Given the description of an element on the screen output the (x, y) to click on. 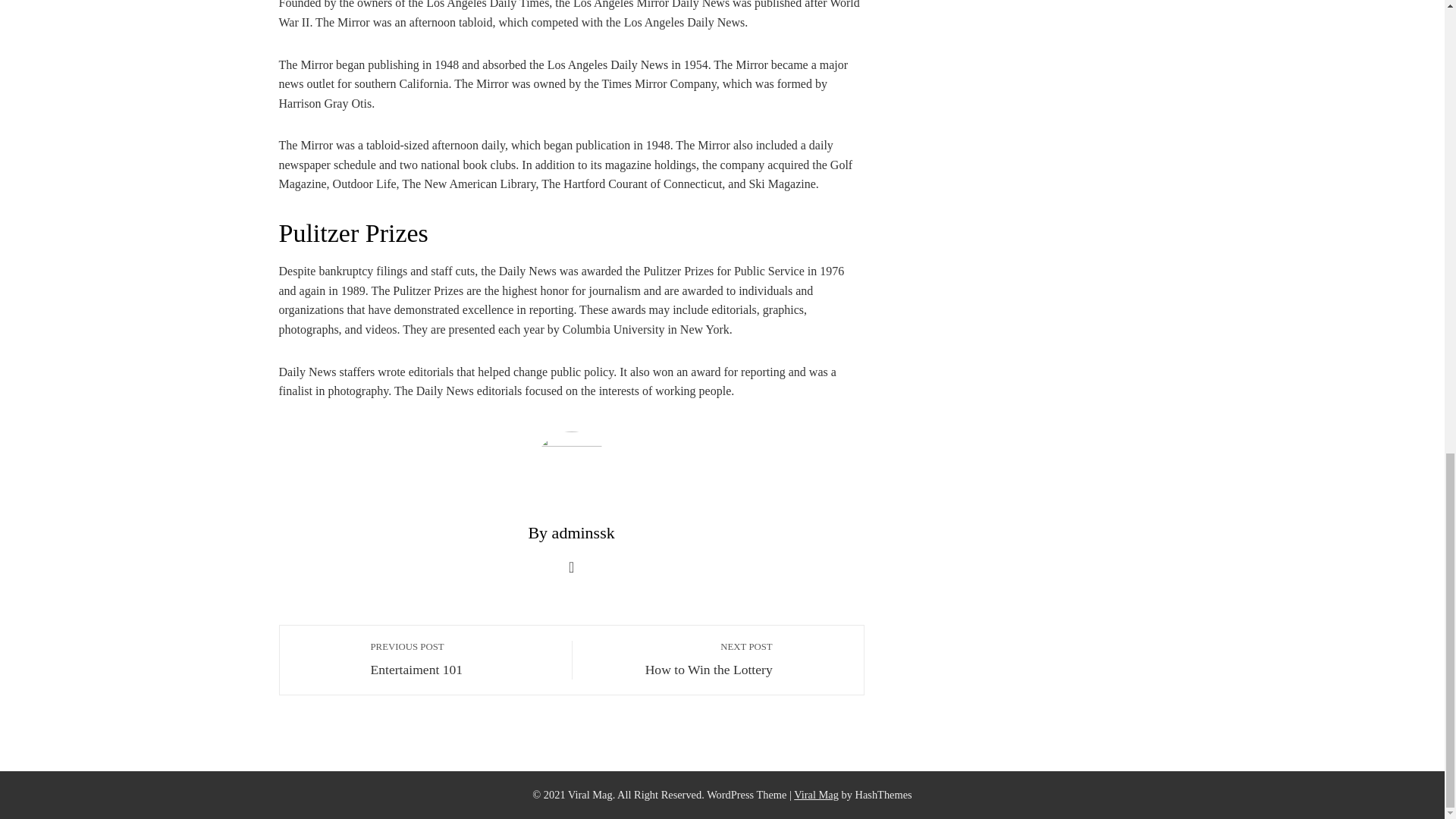
Download Viral News (680, 658)
Viral Mag (462, 658)
